Given the description of an element on the screen output the (x, y) to click on. 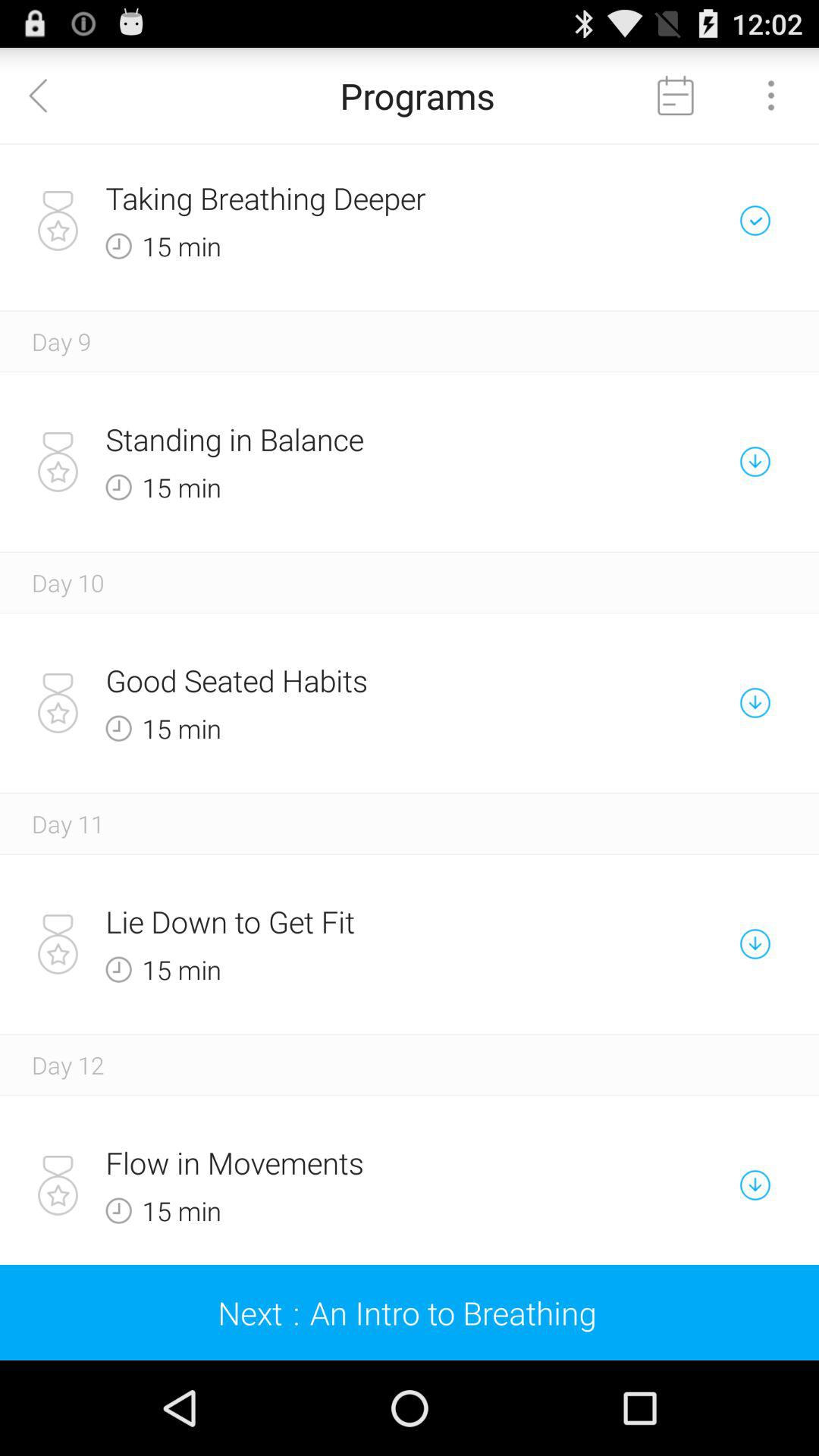
calender (675, 95)
